Given the description of an element on the screen output the (x, y) to click on. 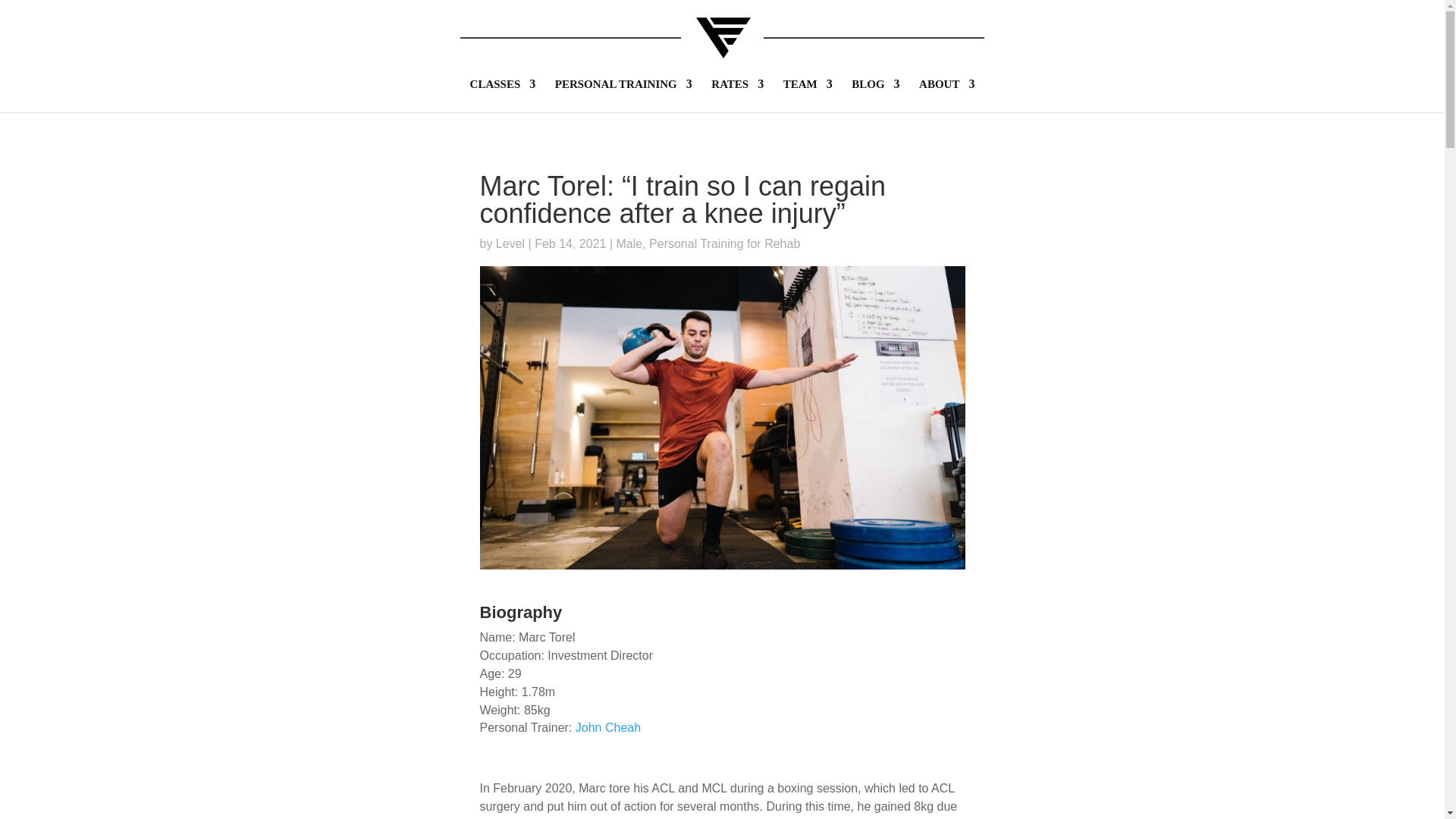
PERSONAL TRAINING (623, 95)
Posts by Level (510, 243)
ABOUT (946, 95)
TEAM (807, 95)
RATES (736, 95)
BLOG (875, 95)
CLASSES (502, 95)
